Given the description of an element on the screen output the (x, y) to click on. 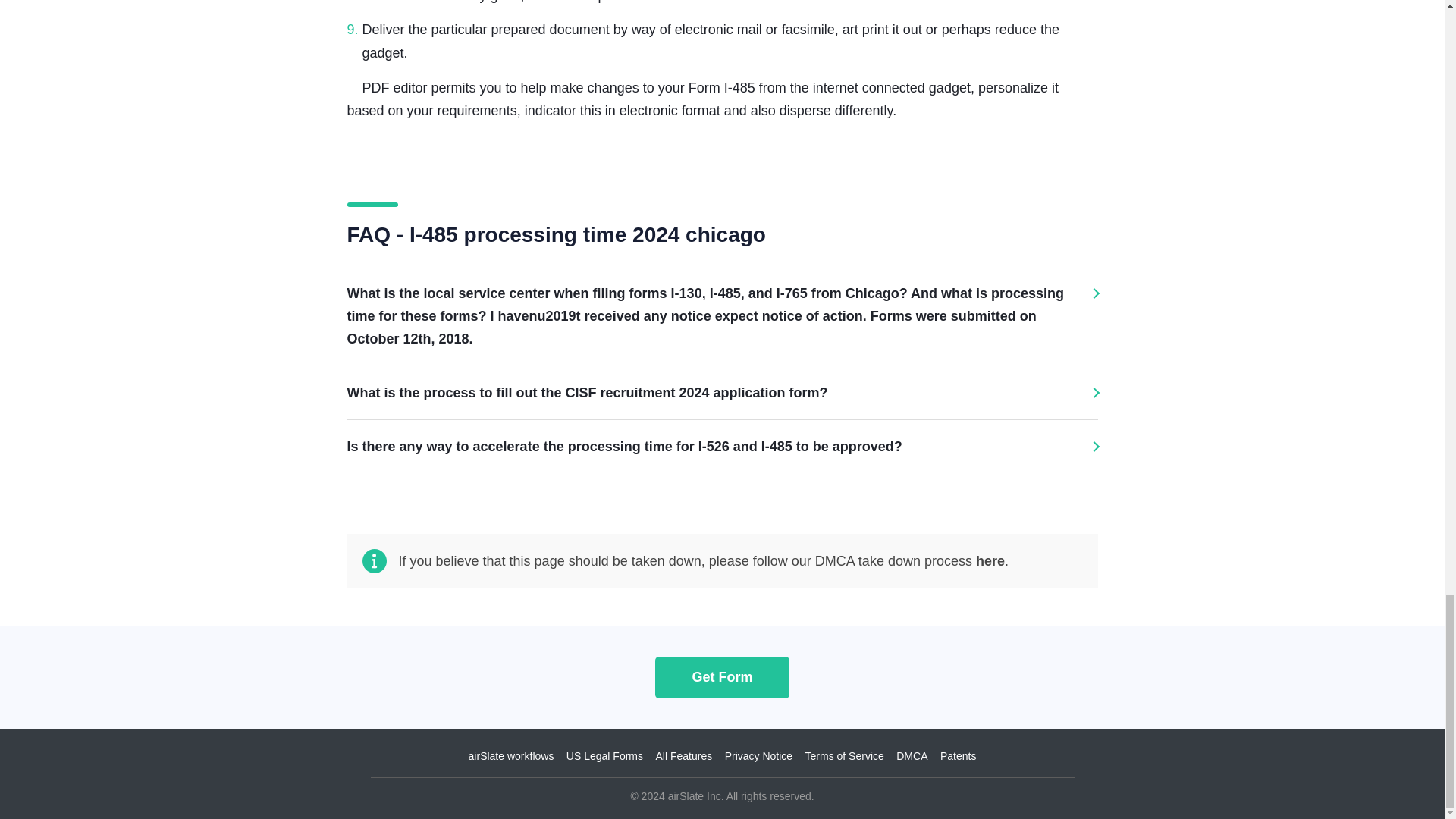
Patents (957, 756)
here (989, 560)
Privacy Notice (758, 756)
Terms of Service (844, 756)
US Legal Forms (604, 756)
All Features (683, 756)
airSlate workflows (511, 756)
Get Form (722, 676)
DMCA (911, 756)
